Given the description of an element on the screen output the (x, y) to click on. 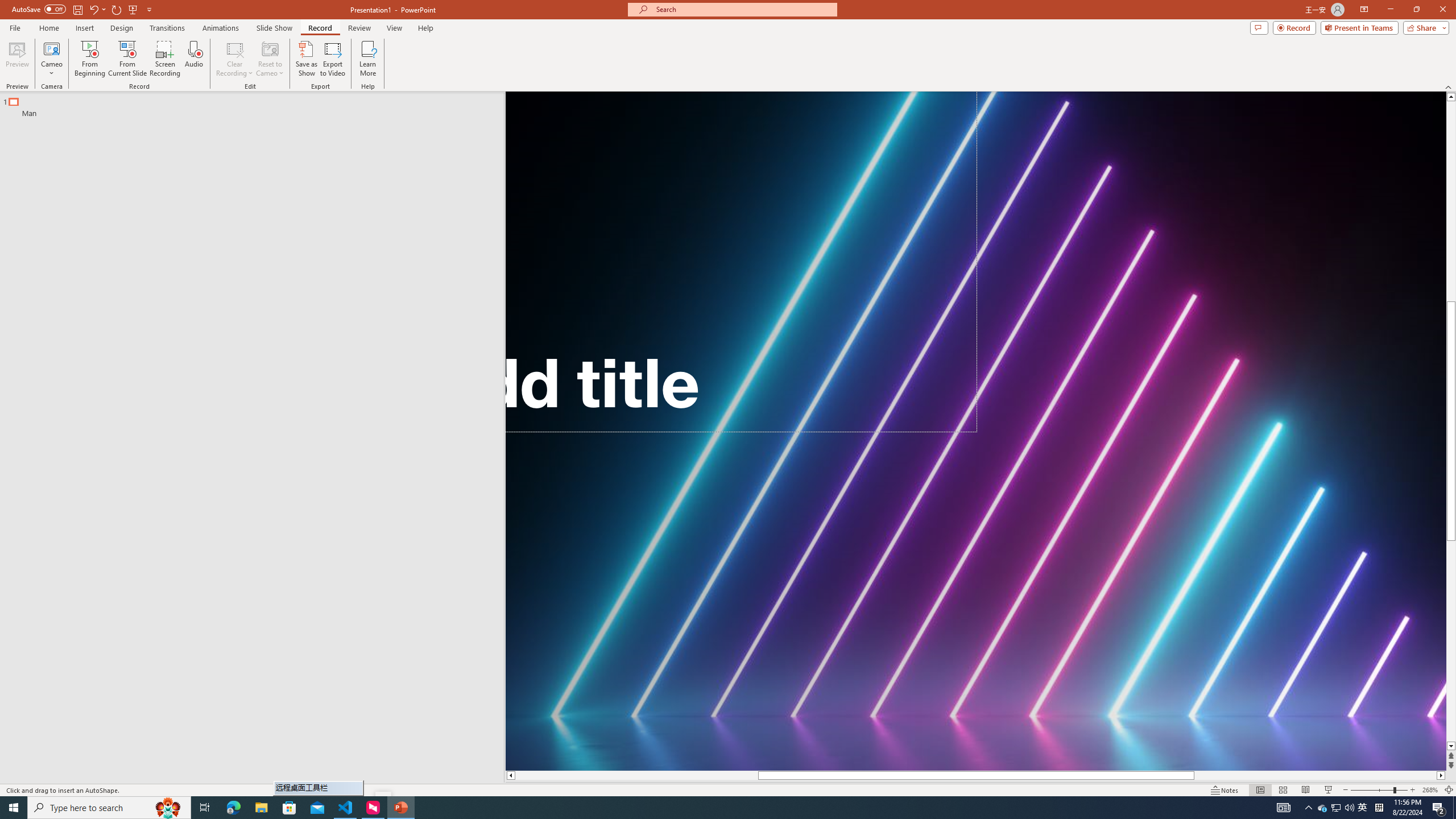
Learn More (368, 58)
